Given the description of an element on the screen output the (x, y) to click on. 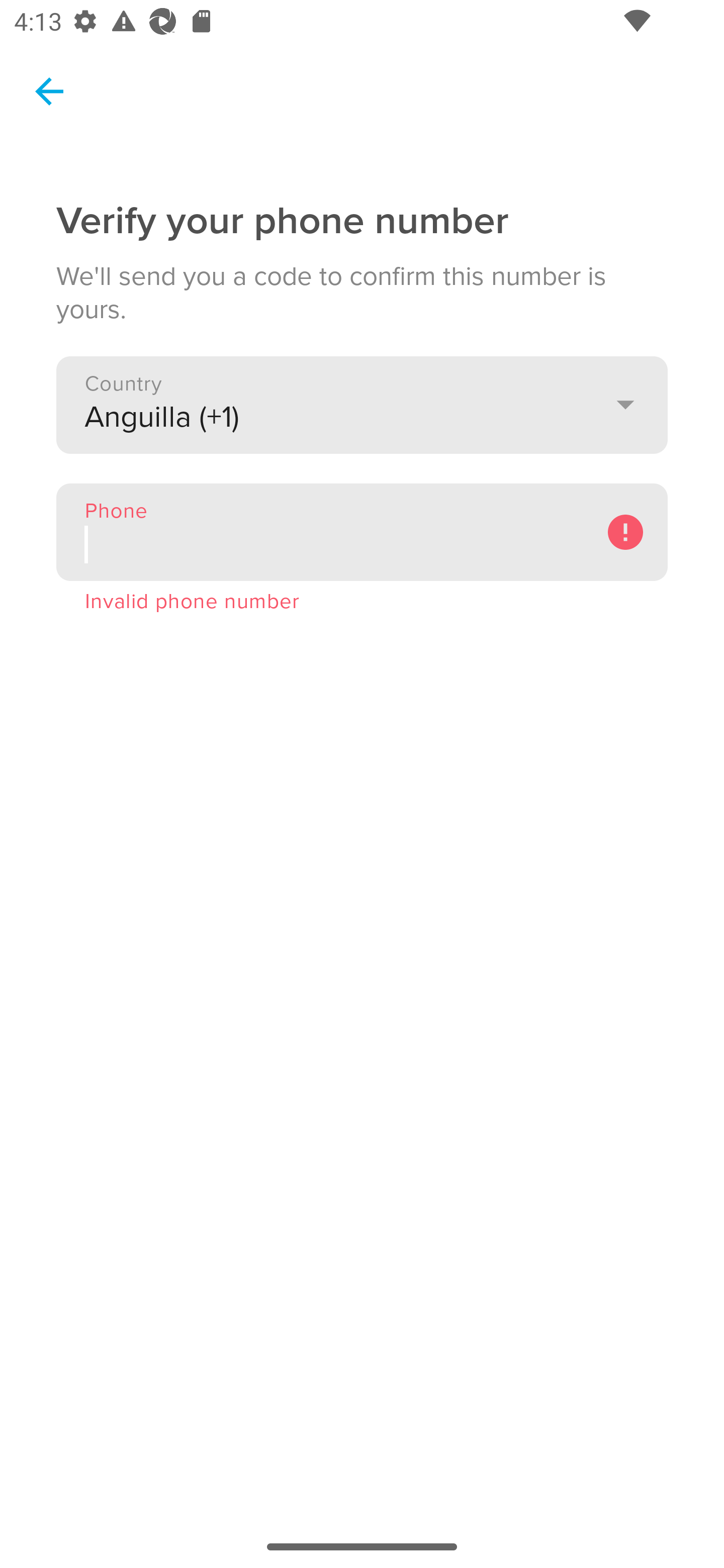
Navigate up (49, 91)
Sign In Sign in and start saving Sign In (361, 231)
Anguilla (+1) (361, 404)
Phone (361, 531)
